Given the description of an element on the screen output the (x, y) to click on. 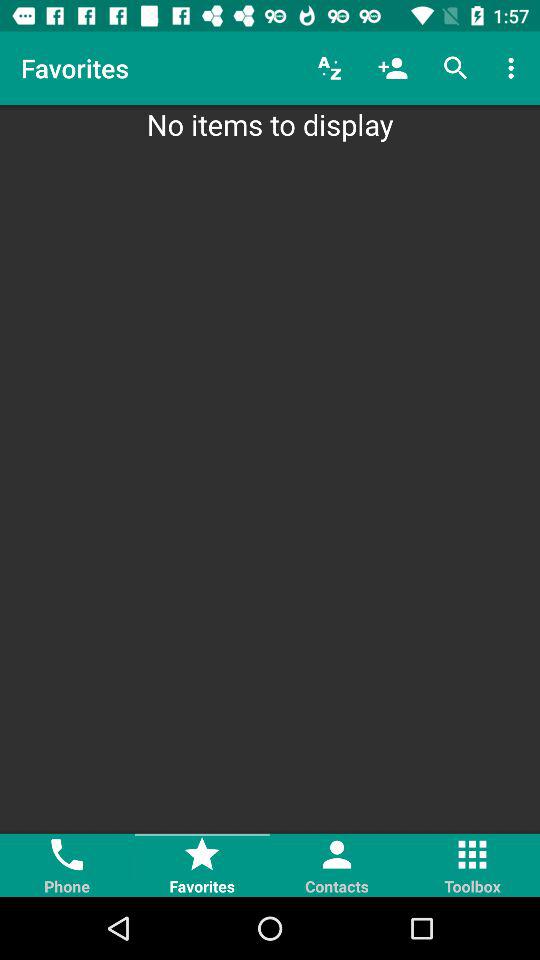
open icon above the no items to icon (329, 67)
